Given the description of an element on the screen output the (x, y) to click on. 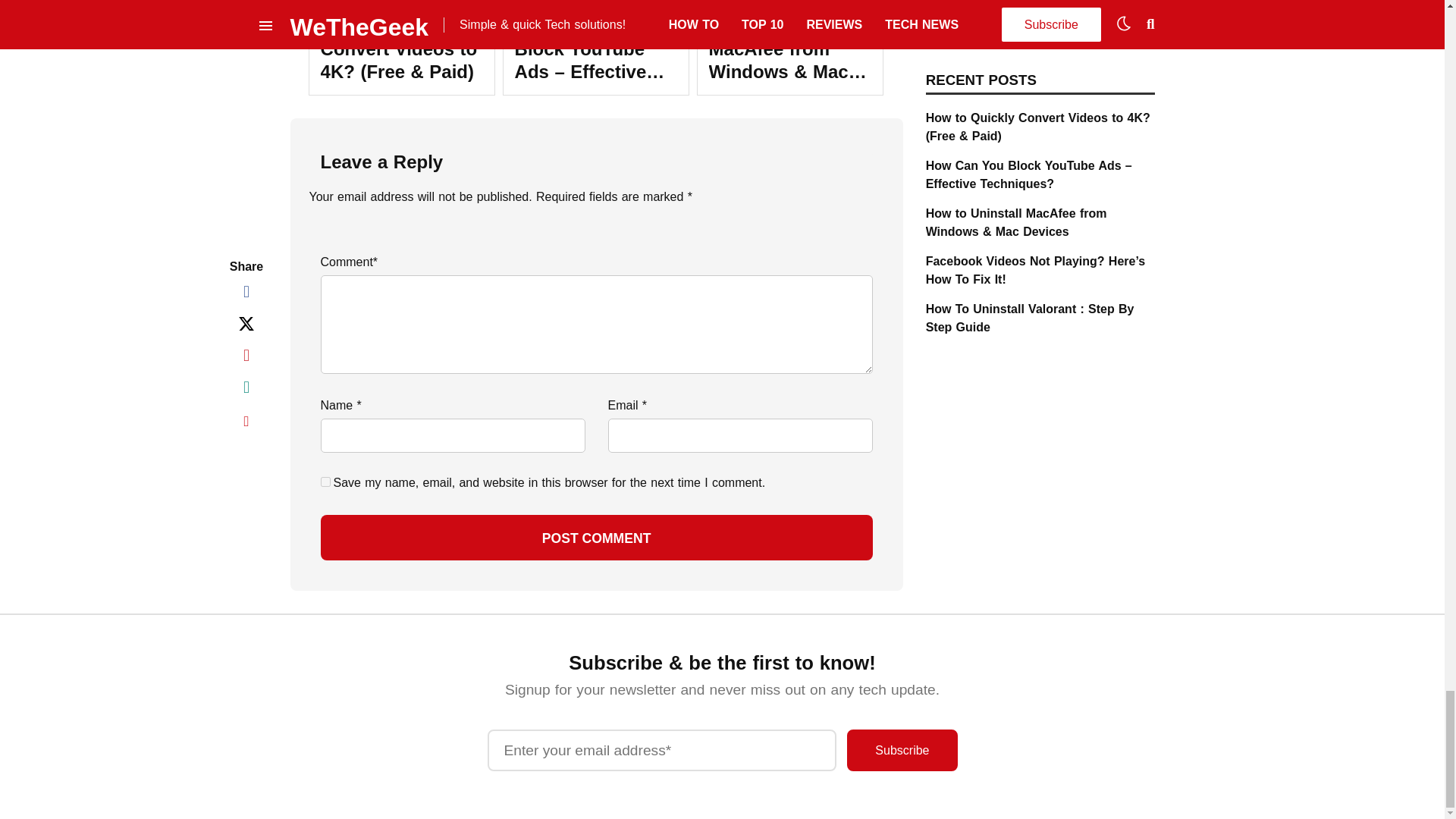
Post Comment (596, 536)
yes (325, 480)
Subscribe (901, 750)
